Given the description of an element on the screen output the (x, y) to click on. 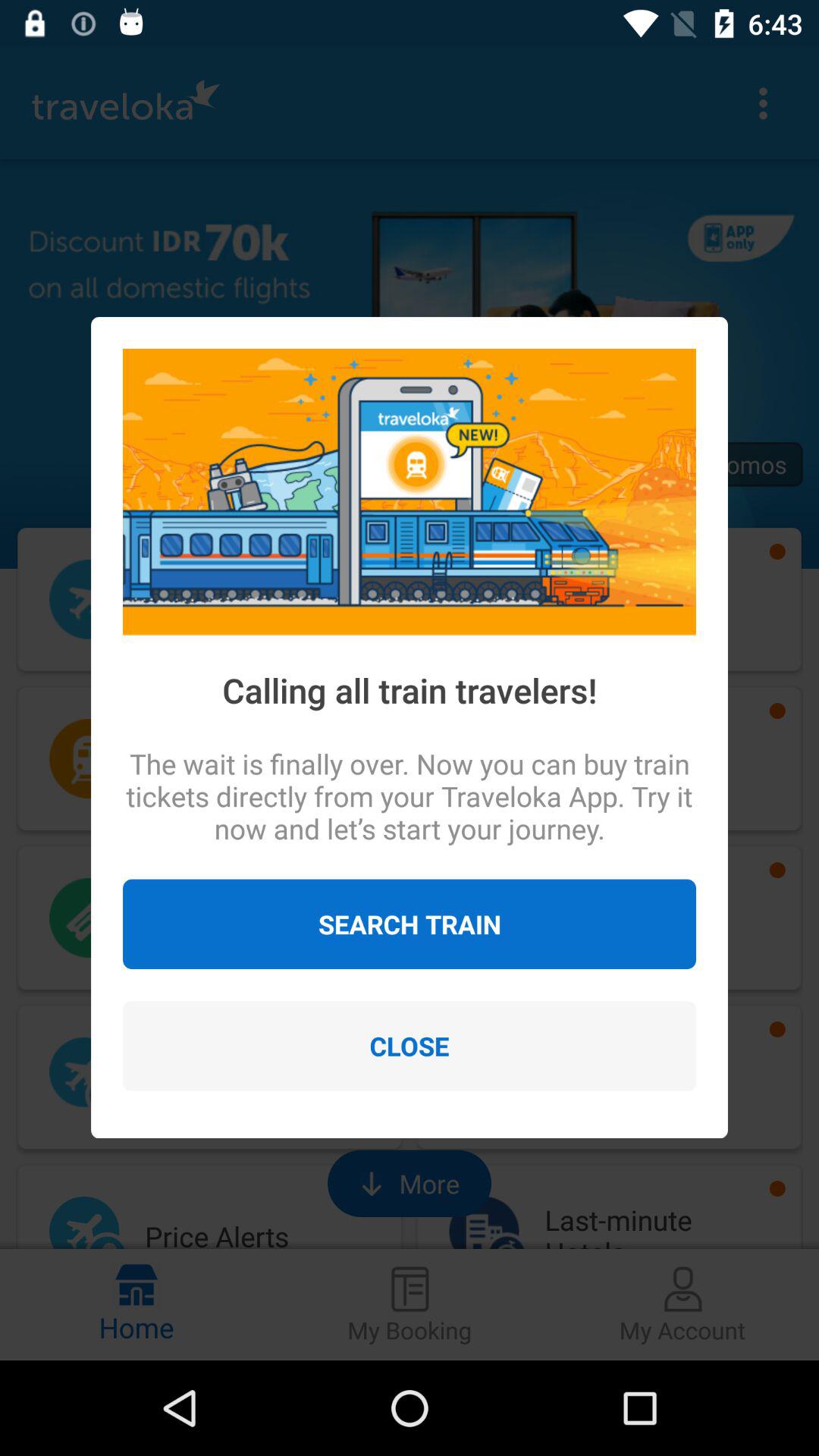
click the search train icon (409, 924)
